Given the description of an element on the screen output the (x, y) to click on. 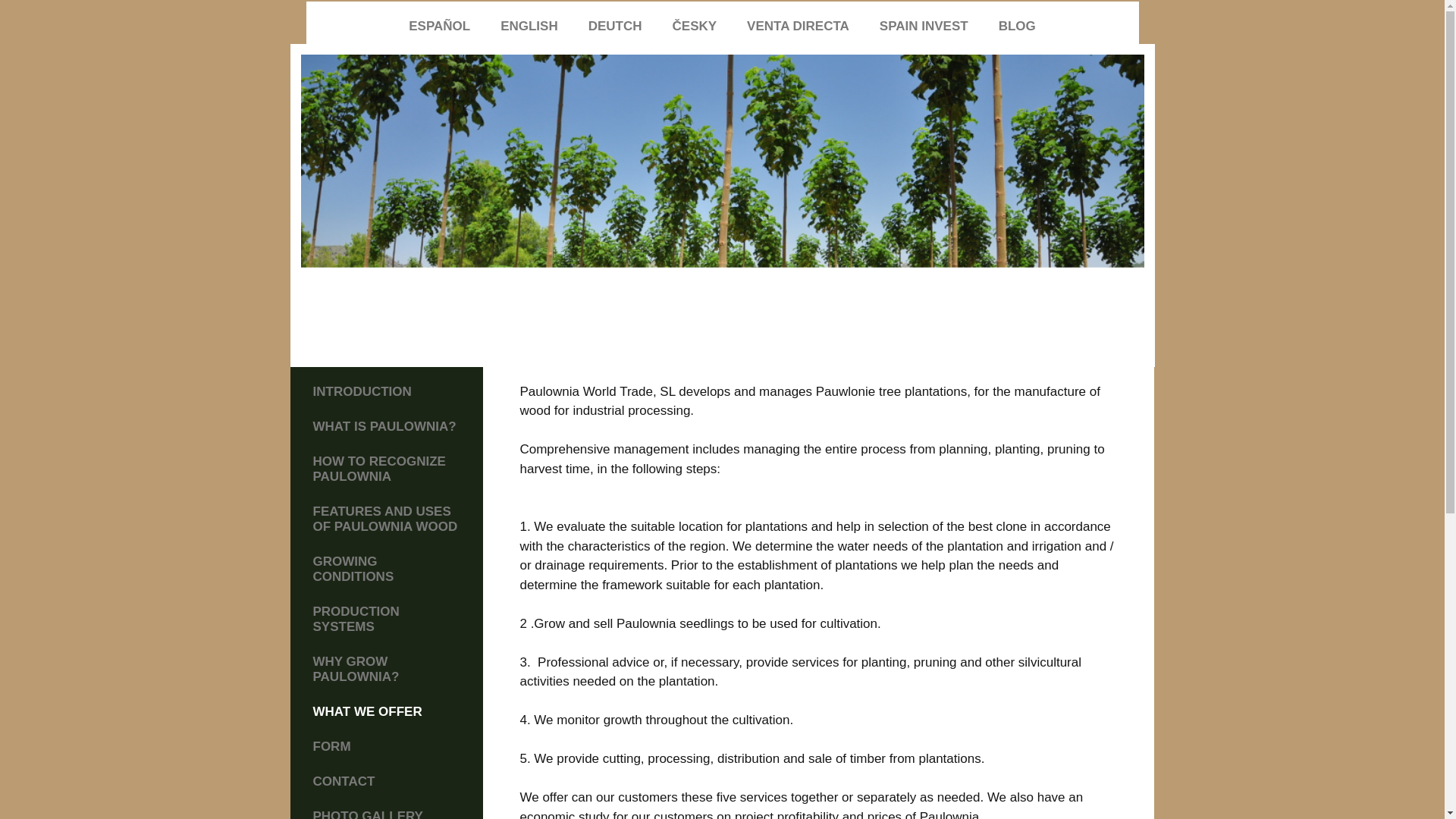
SPAIN INVEST (924, 26)
HOW TO RECOGNIZE PAULOWNIA (386, 469)
VENTA DIRECTA (798, 26)
WHAT IS PAULOWNIA? (386, 426)
WHAT WE OFFER (386, 711)
ENGLISH (528, 26)
BLOG (1017, 26)
PRODUCTION SYSTEMS (386, 619)
FORM (386, 746)
FEATURES AND USES OF PAULOWNIA WOOD (386, 519)
